Given the description of an element on the screen output the (x, y) to click on. 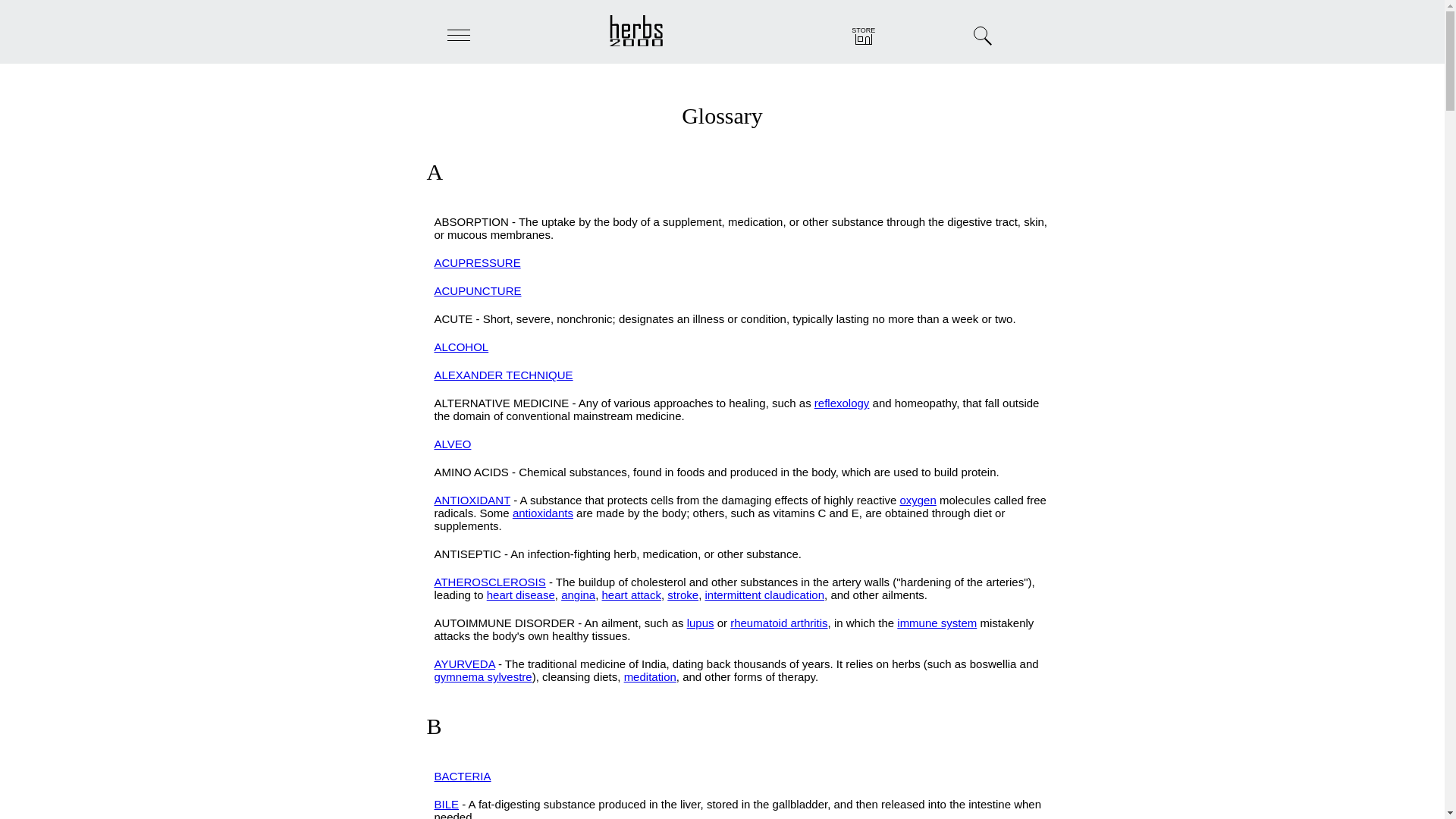
ATHEROSCLEROSIS (488, 581)
antioxidants (542, 512)
oxygen (917, 499)
heart disease (520, 594)
rheumatoid arthritis (778, 622)
ACUPUNCTURE (477, 290)
reflexology (841, 402)
AYURVEDA (464, 663)
lupus (700, 622)
heart attack (631, 594)
